Given the description of an element on the screen output the (x, y) to click on. 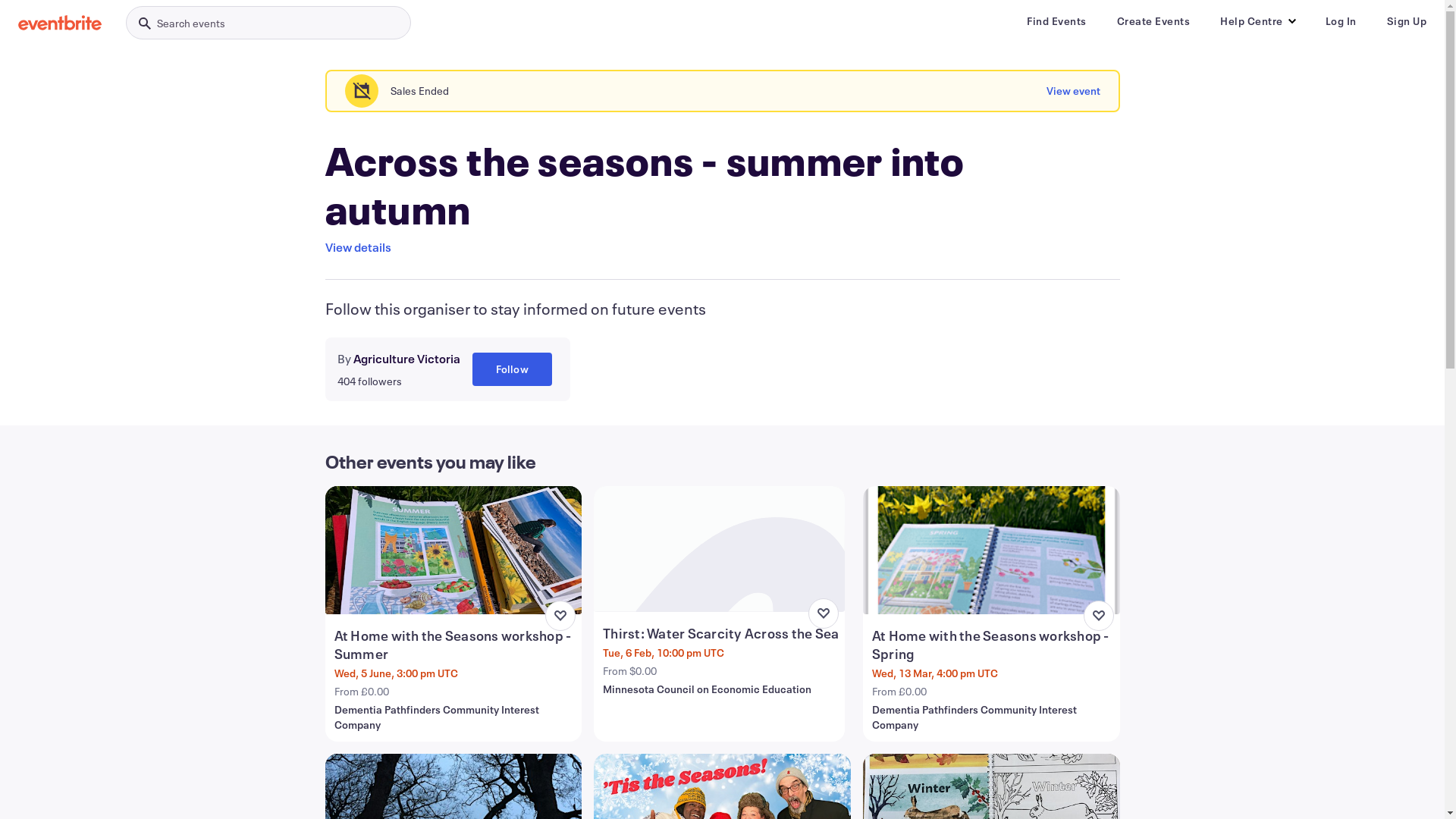
At Home with the Seasons workshop - Spring Element type: text (992, 644)
Search events Element type: text (268, 22)
Sign Up Element type: text (1406, 21)
View details Element type: text (357, 246)
Eventbrite Element type: hover (59, 22)
View event Element type: text (1073, 90)
At Home with the Seasons workshop - Summer Element type: text (454, 644)
Follow Element type: text (511, 368)
Thirst: Water Scarcity Across the Sea Element type: text (720, 632)
Find Events Element type: text (1056, 21)
Log In Element type: text (1340, 21)
Create Events Element type: text (1152, 21)
